Given the description of an element on the screen output the (x, y) to click on. 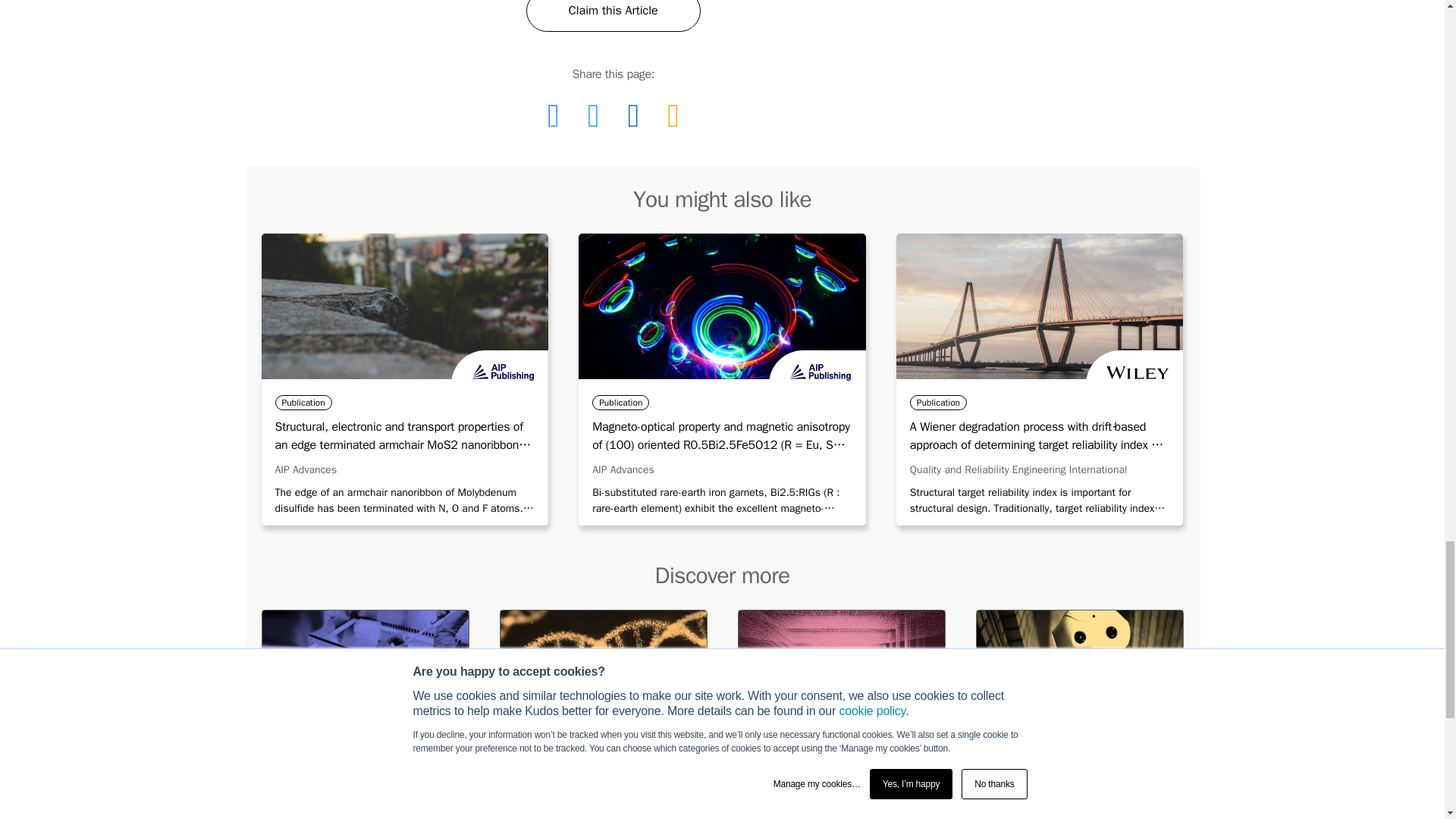
Social Sciences (840, 786)
AIP Advances (305, 469)
Share this page via Twitter (593, 114)
Life Sciences (602, 666)
Environmental Research (364, 786)
Medical Research (364, 666)
Share this page via email (672, 114)
AIP Advances (622, 469)
Technology and Engineering (1078, 666)
Physical Sciences (840, 666)
Arts and Humanities (602, 786)
Quality and Reliability Engineering International (1018, 469)
Share this page via LinkedIn (633, 114)
Claim this Article (612, 15)
